Given the description of an element on the screen output the (x, y) to click on. 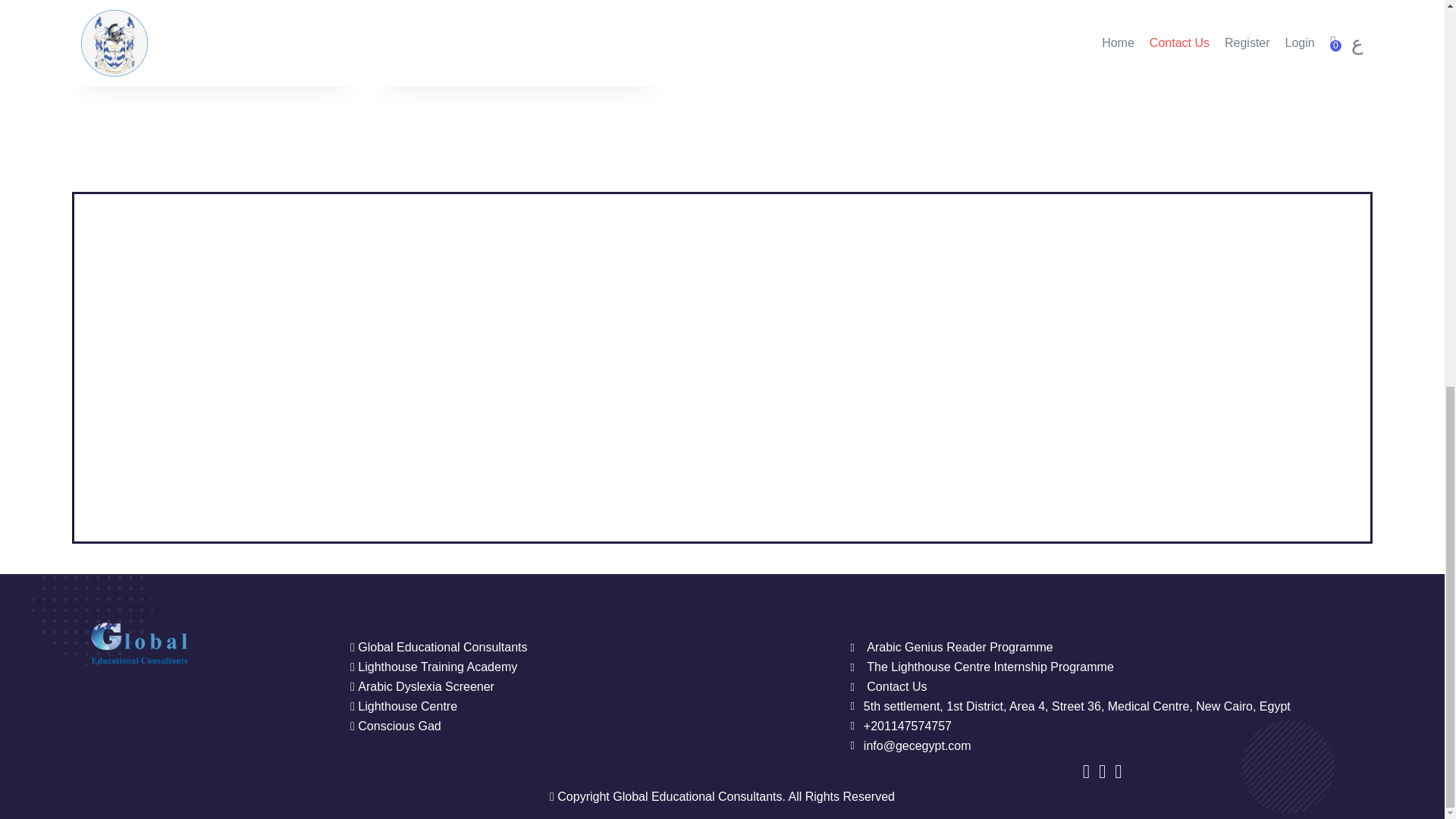
Lighthouse Centre (581, 706)
Arabic Dyslexia Screener (581, 686)
Global Educational Consultants (581, 647)
Arabic Genius Reader Programme (951, 647)
Lighthouse Training Academy (581, 667)
Send (1050, 62)
Conscious Gad (581, 726)
Contact Us (888, 686)
The Lighthouse Centre Internship Programme (981, 667)
